Given the description of an element on the screen output the (x, y) to click on. 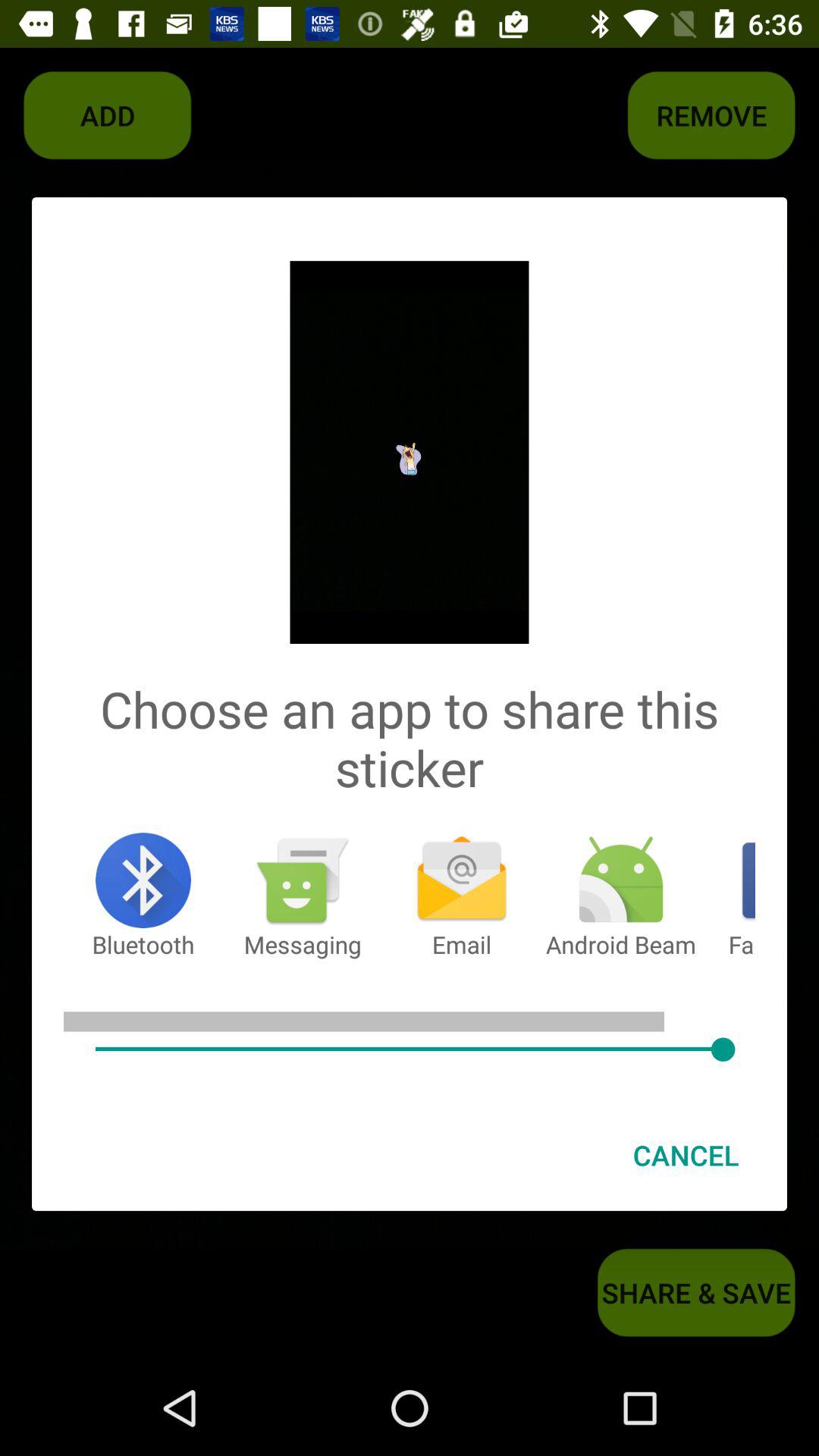
tap the cancel at the bottom right corner (686, 1154)
